Given the description of an element on the screen output the (x, y) to click on. 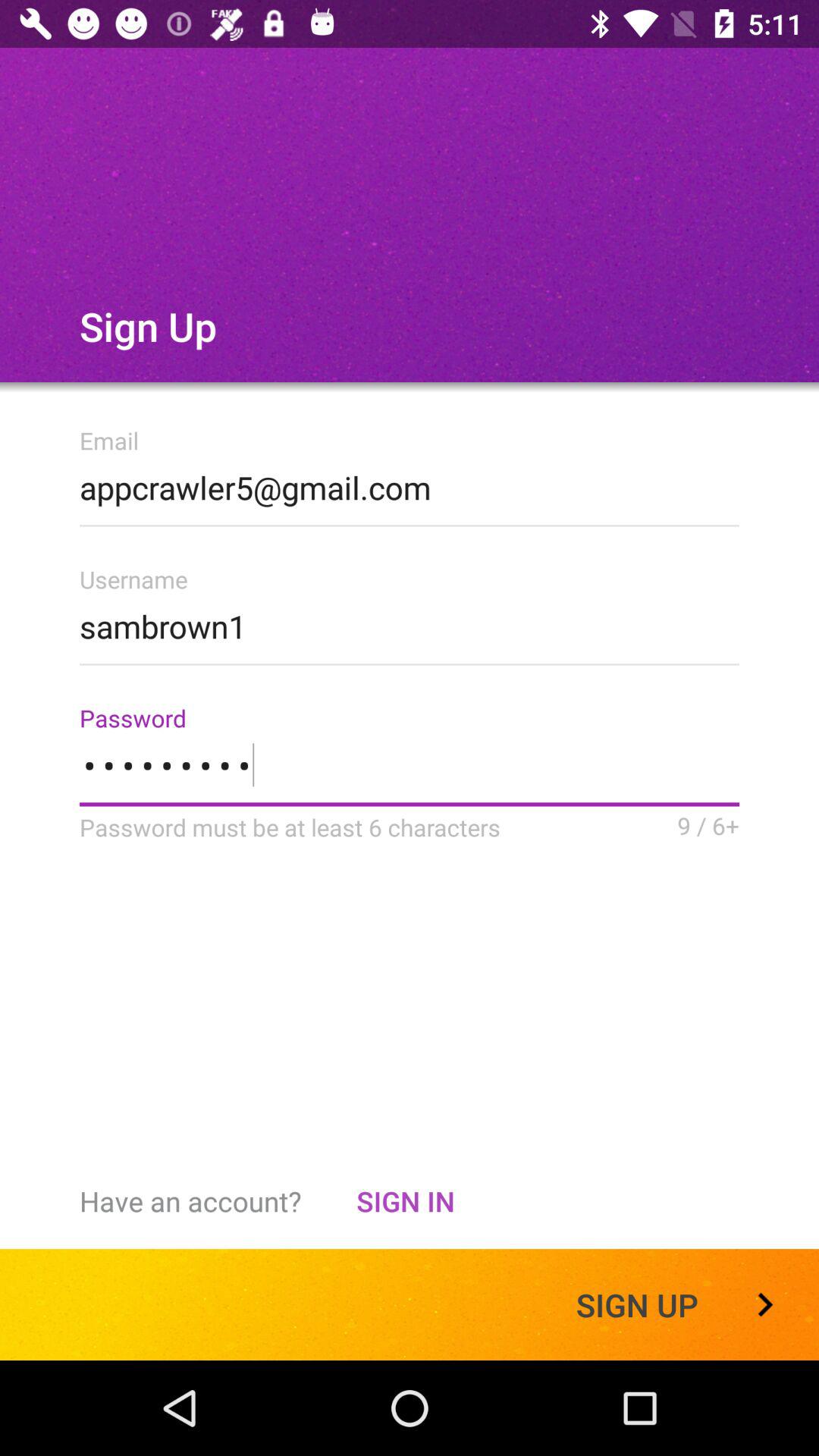
tap item next to the have an account? (405, 1200)
